Given the description of an element on the screen output the (x, y) to click on. 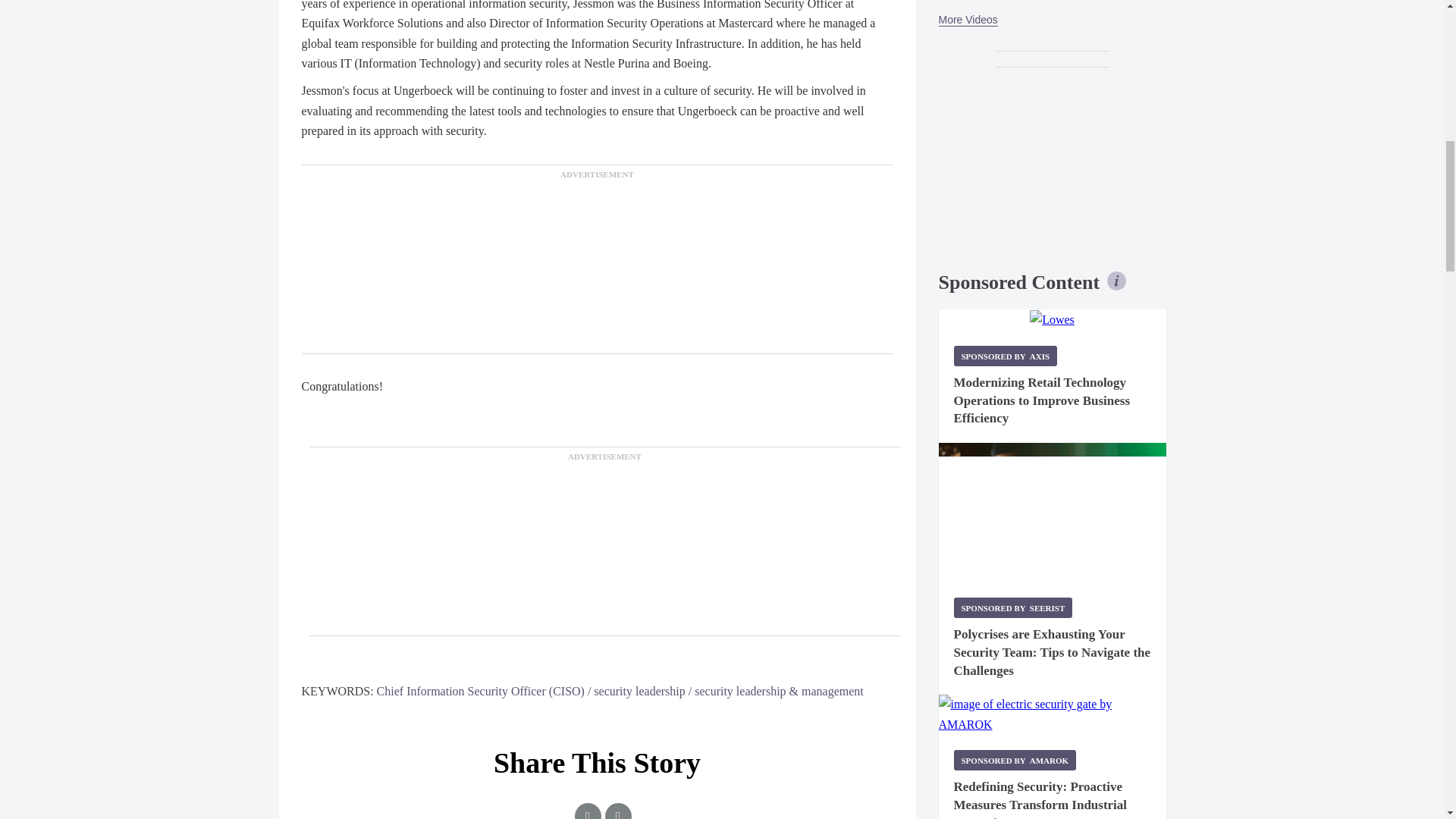
Sponsored by Axis (1005, 355)
Lowes (1051, 320)
Sponsored by AMAROK (1015, 760)
AMAROK Security Gate (1052, 714)
Threat management (1052, 512)
Sponsored by Seerist (1013, 607)
